Given the description of an element on the screen output the (x, y) to click on. 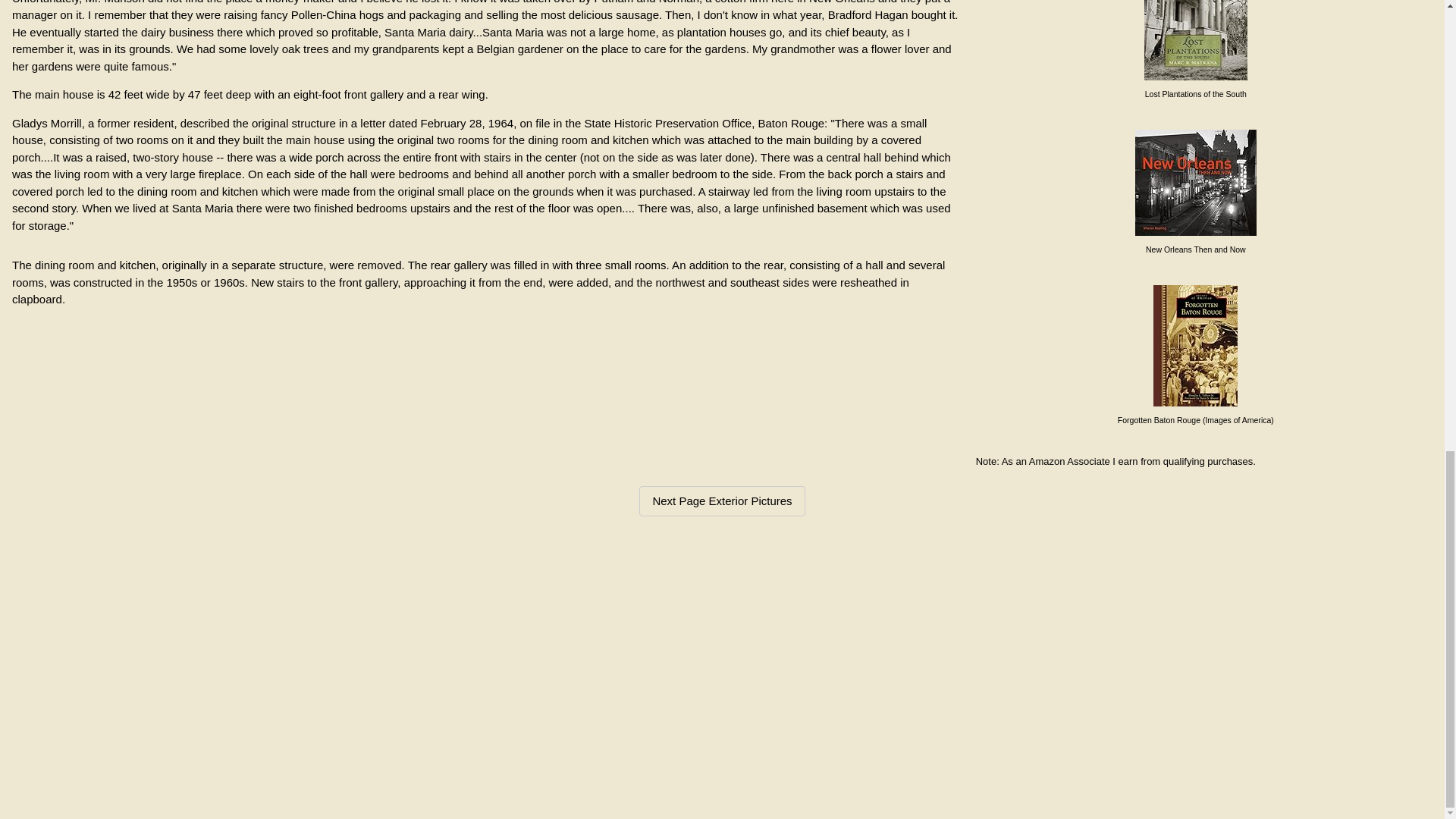
YouTube video player (721, 665)
